Given the description of an element on the screen output the (x, y) to click on. 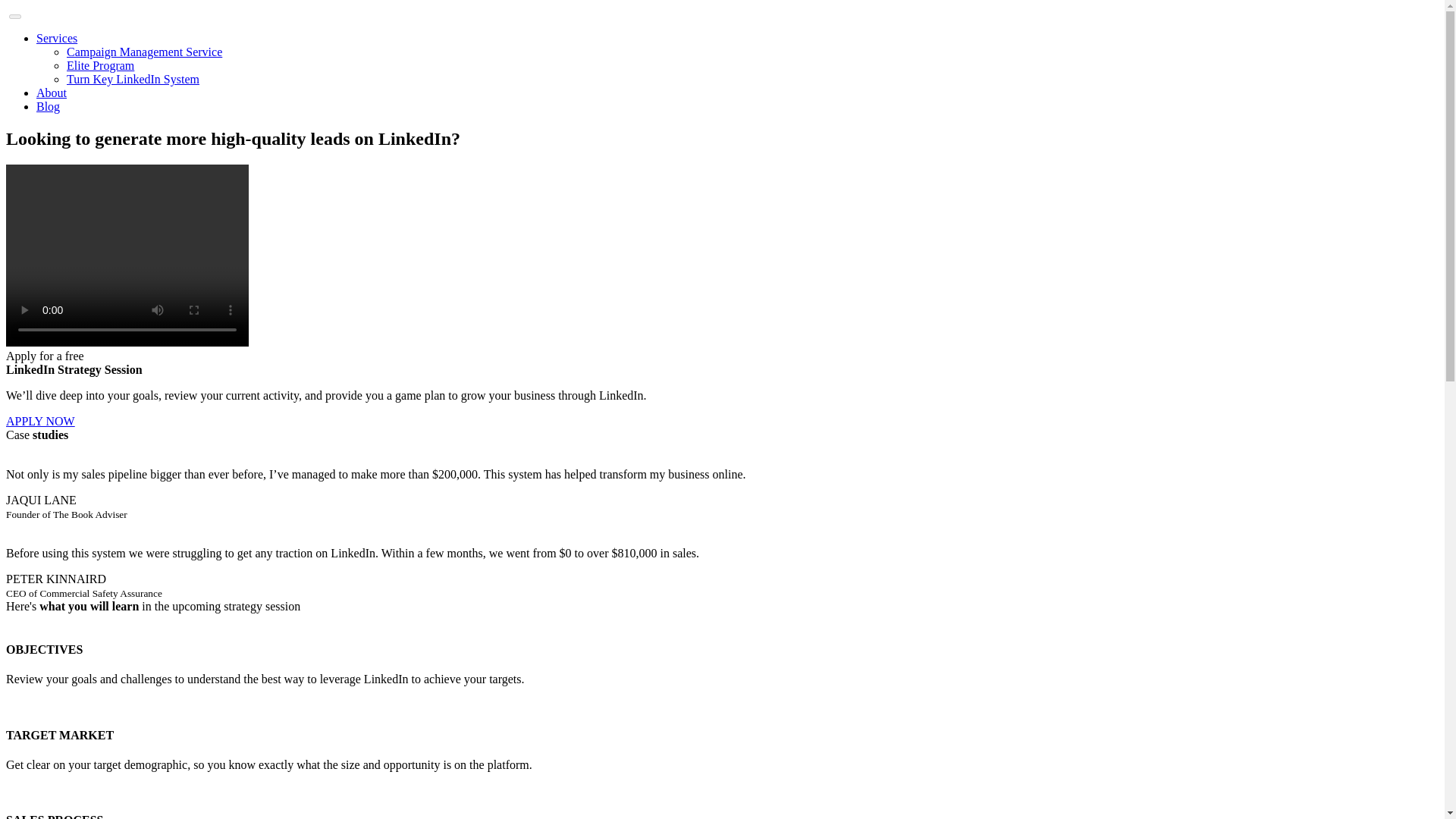
Campaign Management Service (144, 51)
APPLY NOW (40, 420)
Elite Program (99, 65)
About (51, 92)
Services (56, 38)
Turn Key LinkedIn System (132, 78)
Blog (47, 106)
